Given the description of an element on the screen output the (x, y) to click on. 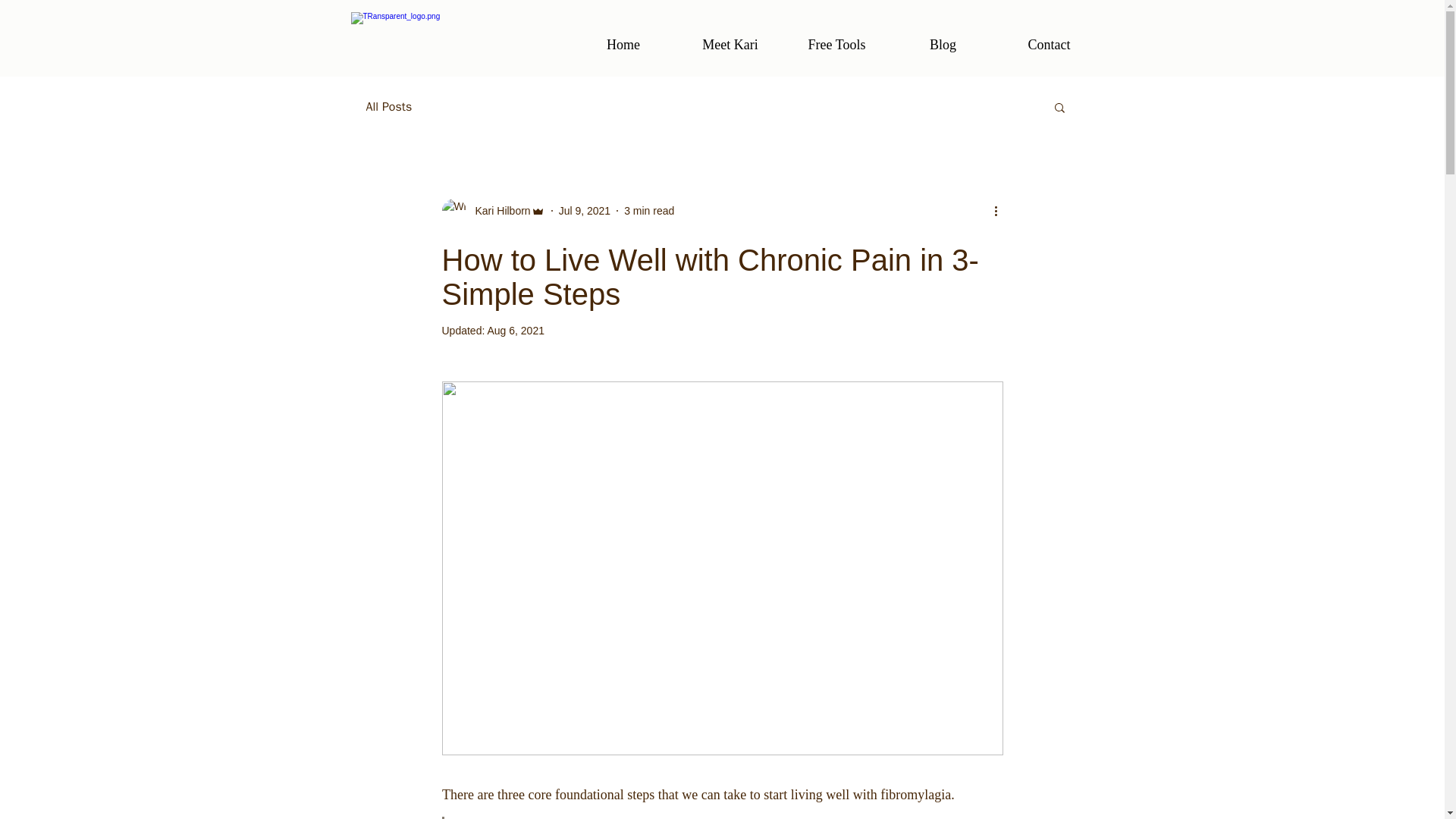
Aug 6, 2021 (515, 330)
Contact (1048, 37)
Meet Kari (730, 37)
Free Tools (836, 37)
Kari Hilborn (497, 211)
Jul 9, 2021 (585, 210)
3 min read (649, 210)
Kari Hilborn (492, 210)
All Posts (388, 106)
Blog (942, 37)
